Given the description of an element on the screen output the (x, y) to click on. 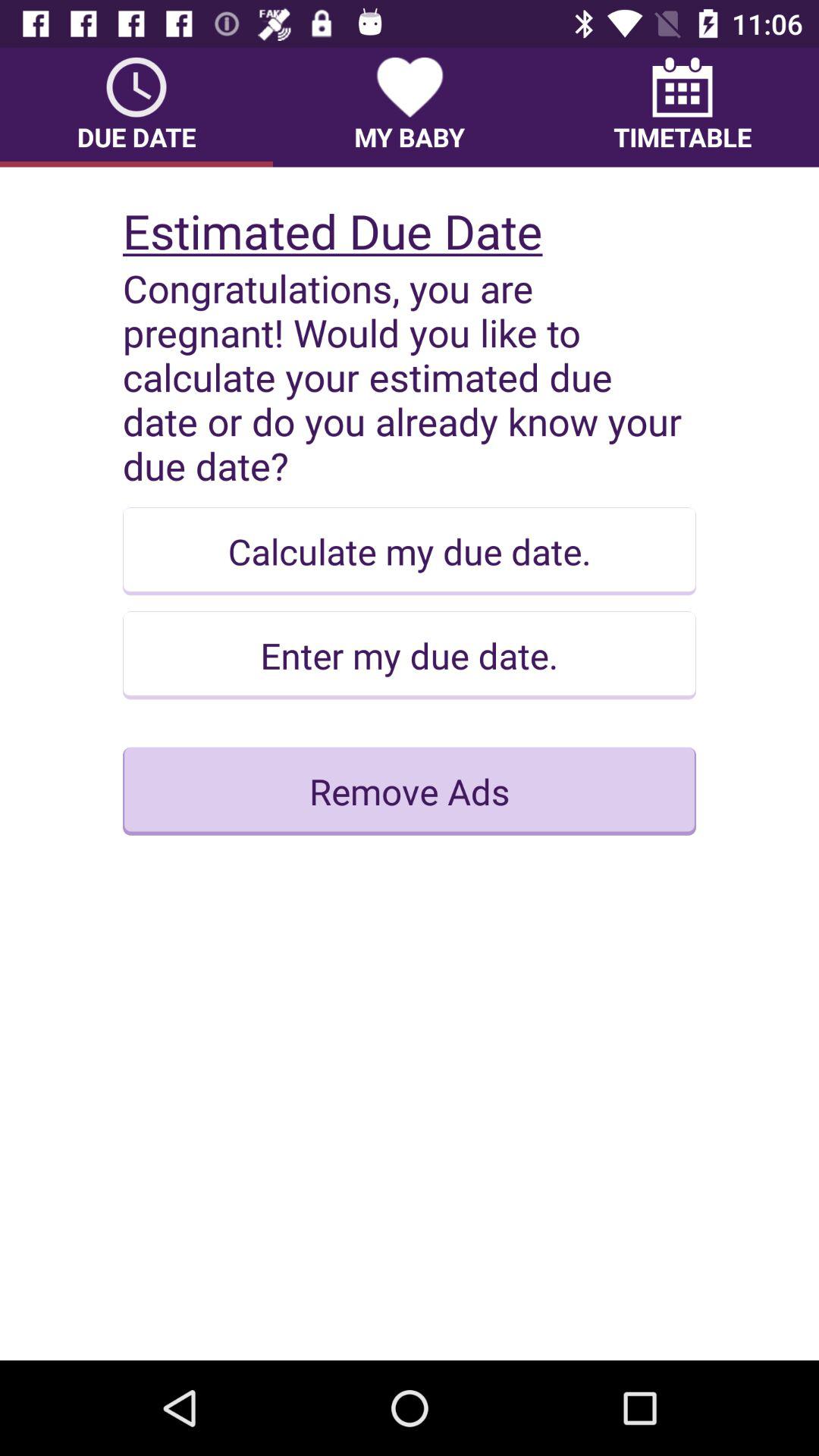
turn on item to the right of my baby item (682, 107)
